Given the description of an element on the screen output the (x, y) to click on. 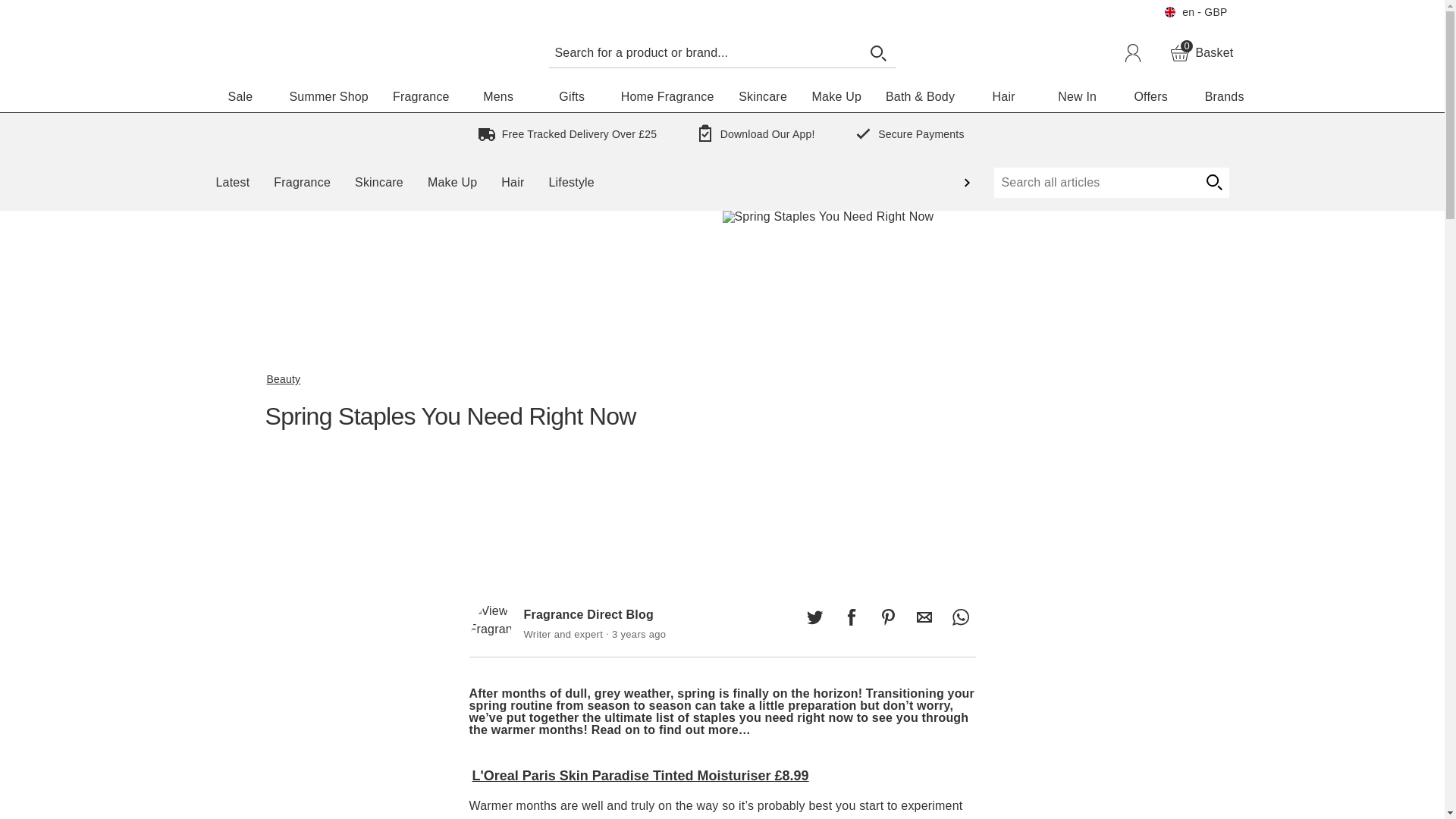
Search Articles (1095, 182)
Search for a product or brand... (704, 52)
en - GBP (1195, 12)
start article search (1213, 182)
Share this on WhatsApp (959, 616)
Share this on Pinterest (887, 616)
Skip to main content (56, 9)
Share this by Email (1201, 53)
Summer Shop (923, 616)
